Given the description of an element on the screen output the (x, y) to click on. 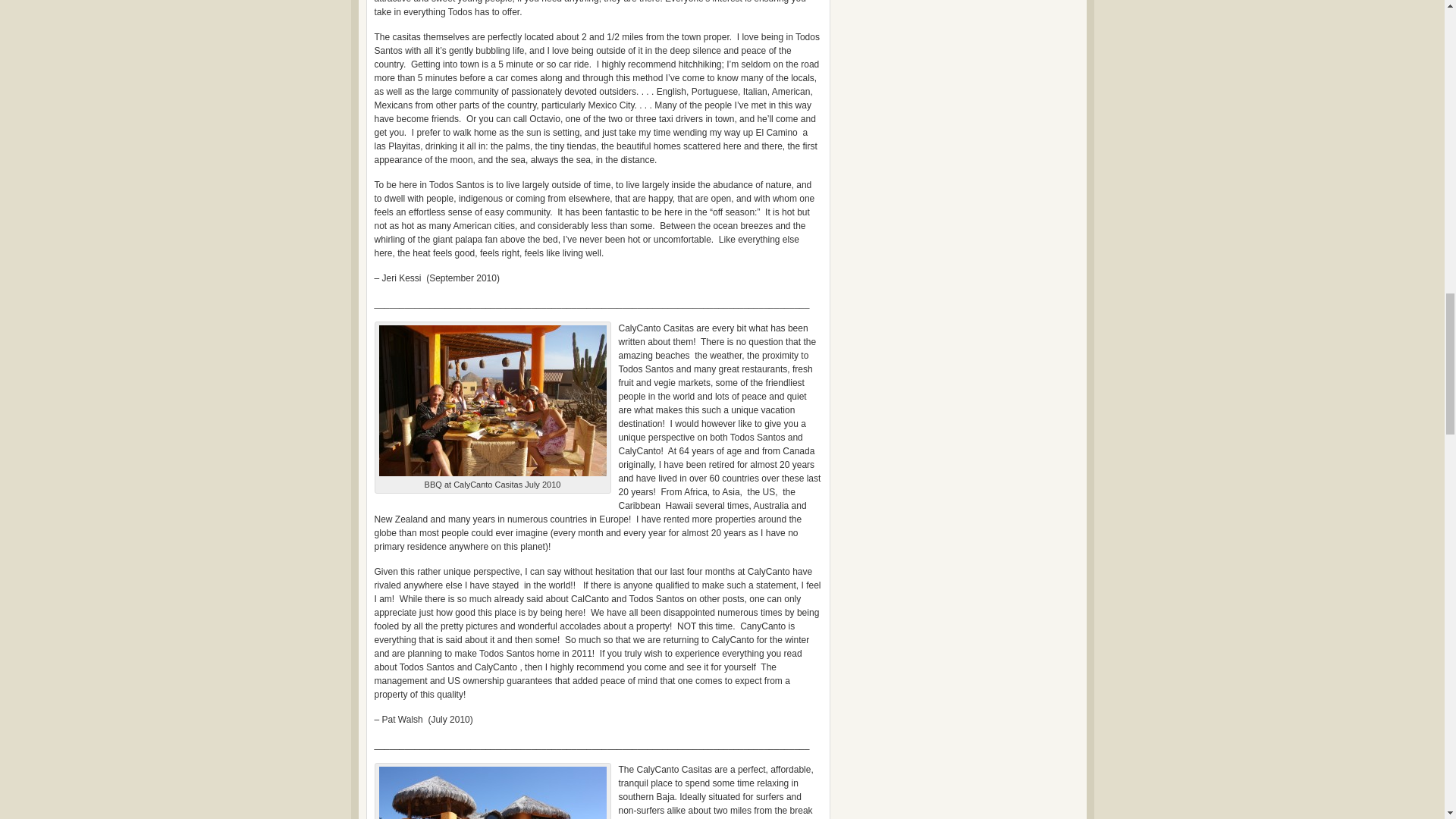
BBQ at CalyCanto Compound in Todos Santos July 2010 (492, 400)
CalyCanto with the Guys (492, 792)
